Given the description of an element on the screen output the (x, y) to click on. 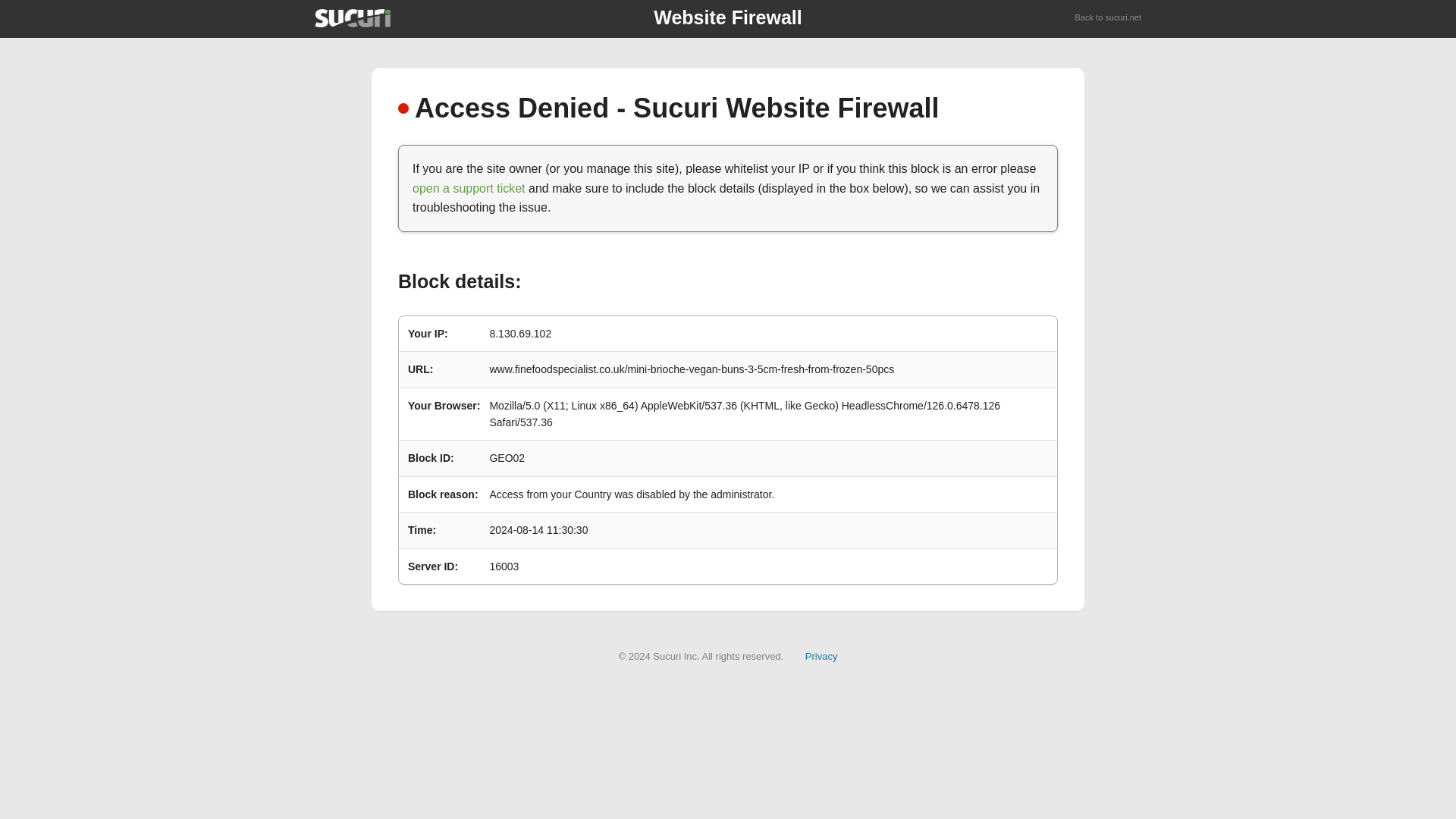
open a support ticket (468, 187)
Privacy (821, 655)
Back to sucuri.net (1108, 18)
